Given the description of an element on the screen output the (x, y) to click on. 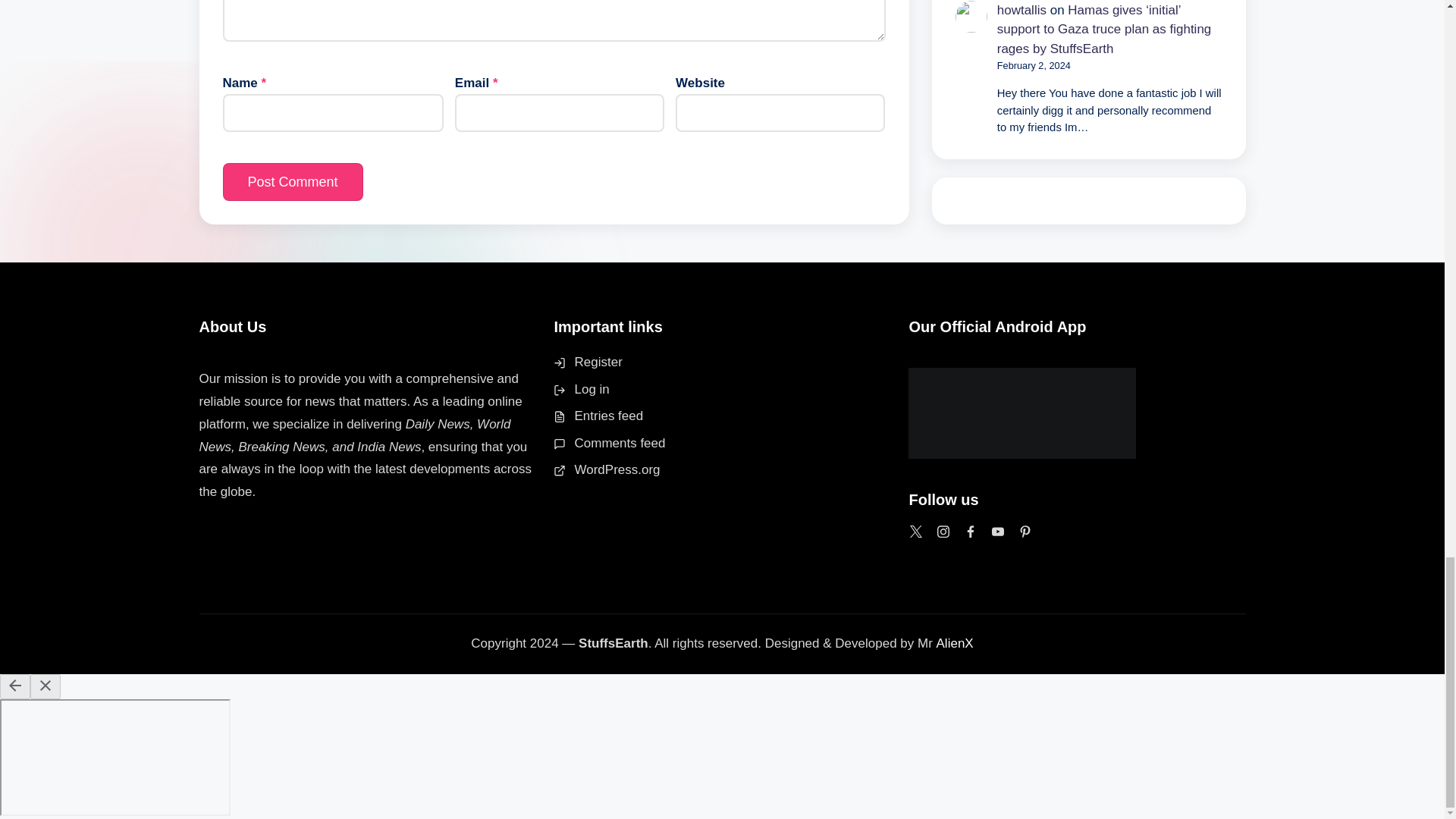
Facebook (970, 531)
Post Comment (292, 181)
Instagram (943, 531)
Youtube (998, 531)
Twitter (915, 531)
Pinterest (1024, 531)
